Given the description of an element on the screen output the (x, y) to click on. 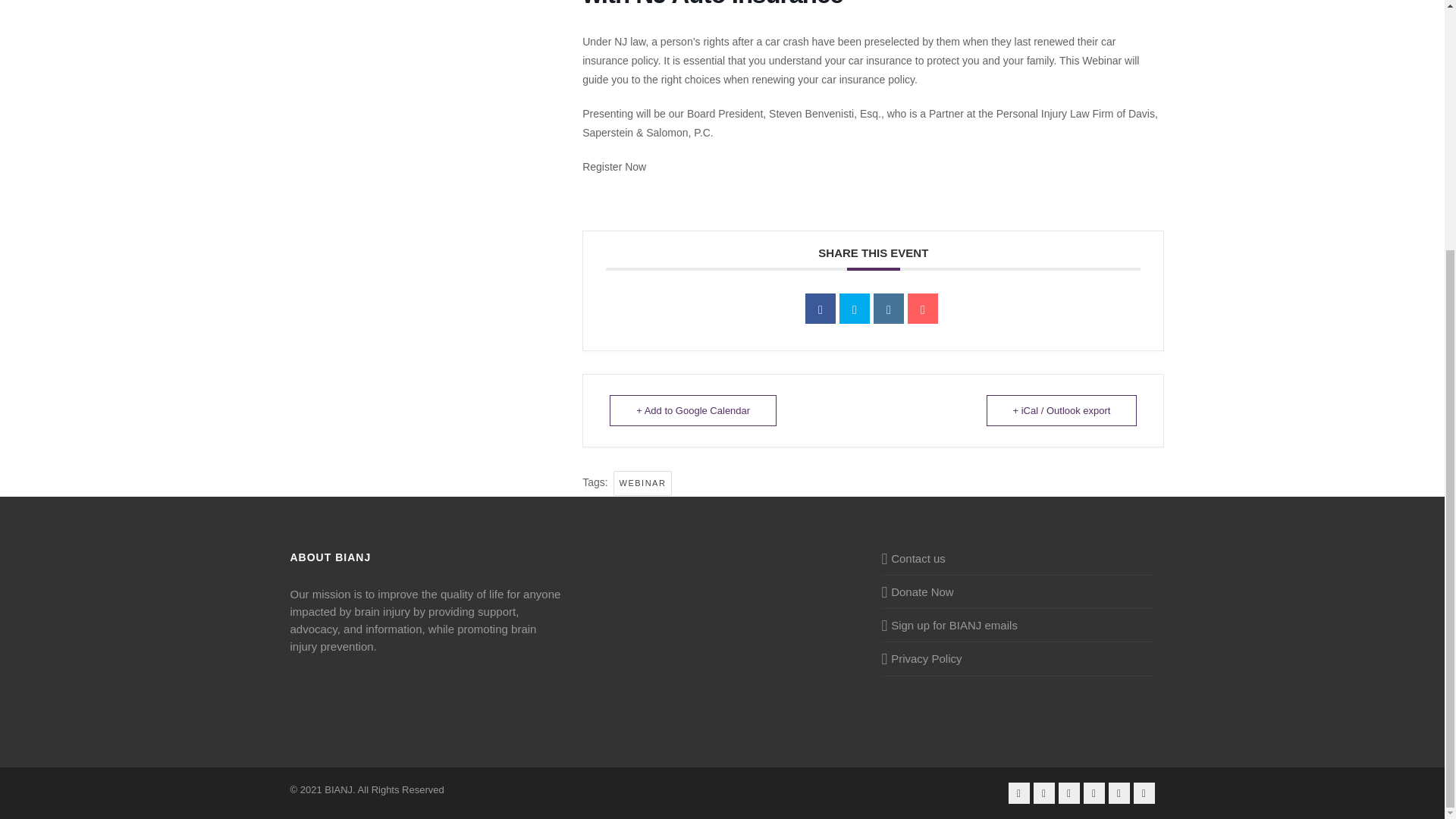
Tweet (854, 308)
Linkedin (888, 308)
Email (922, 308)
Share on Facebook (820, 308)
